Given the description of an element on the screen output the (x, y) to click on. 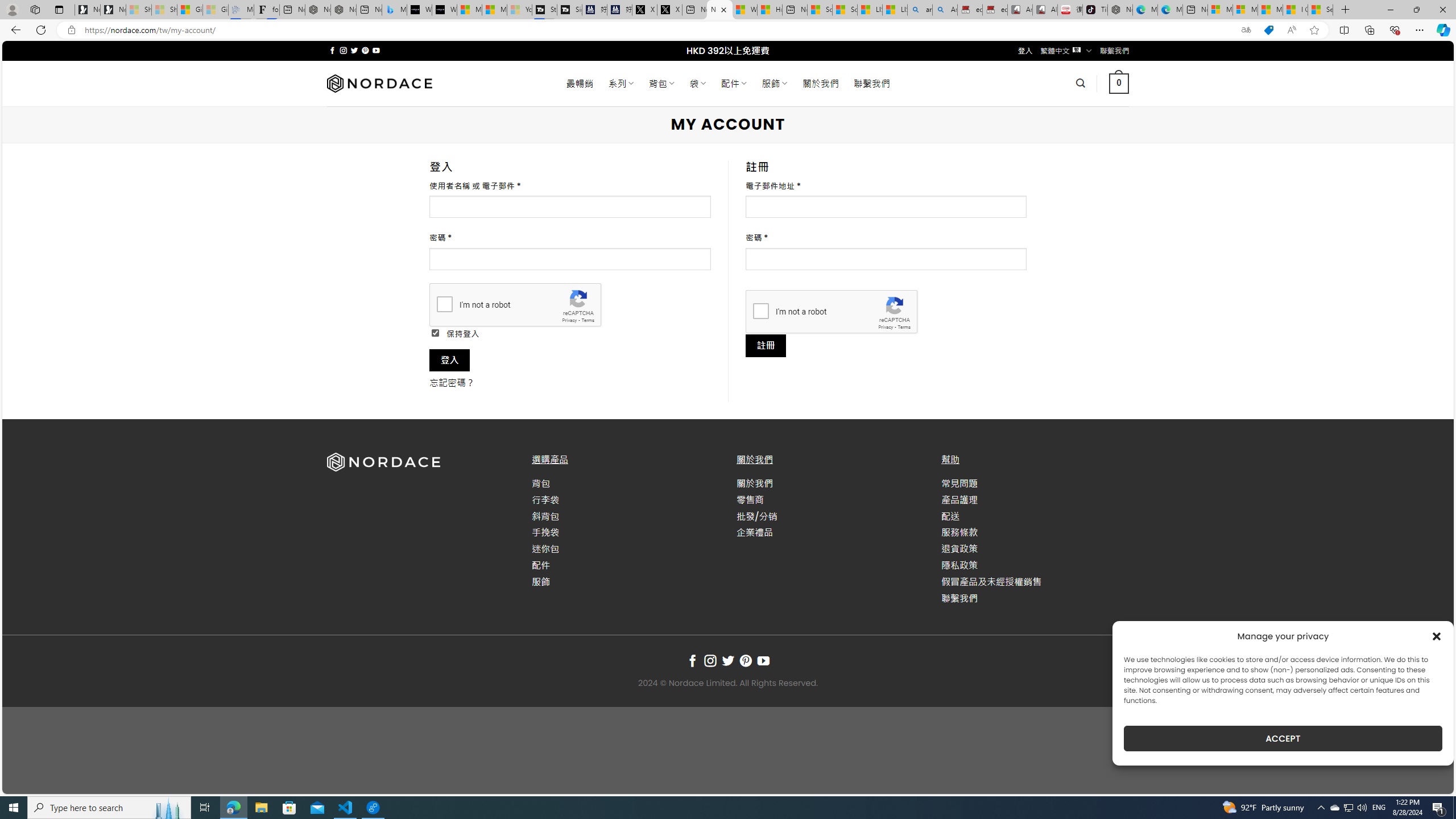
Show translate options (1245, 29)
Back (13, 29)
Microsoft Bing Travel - Shangri-La Hotel Bangkok (394, 9)
Follow on Facebook (691, 660)
